Given the description of an element on the screen output the (x, y) to click on. 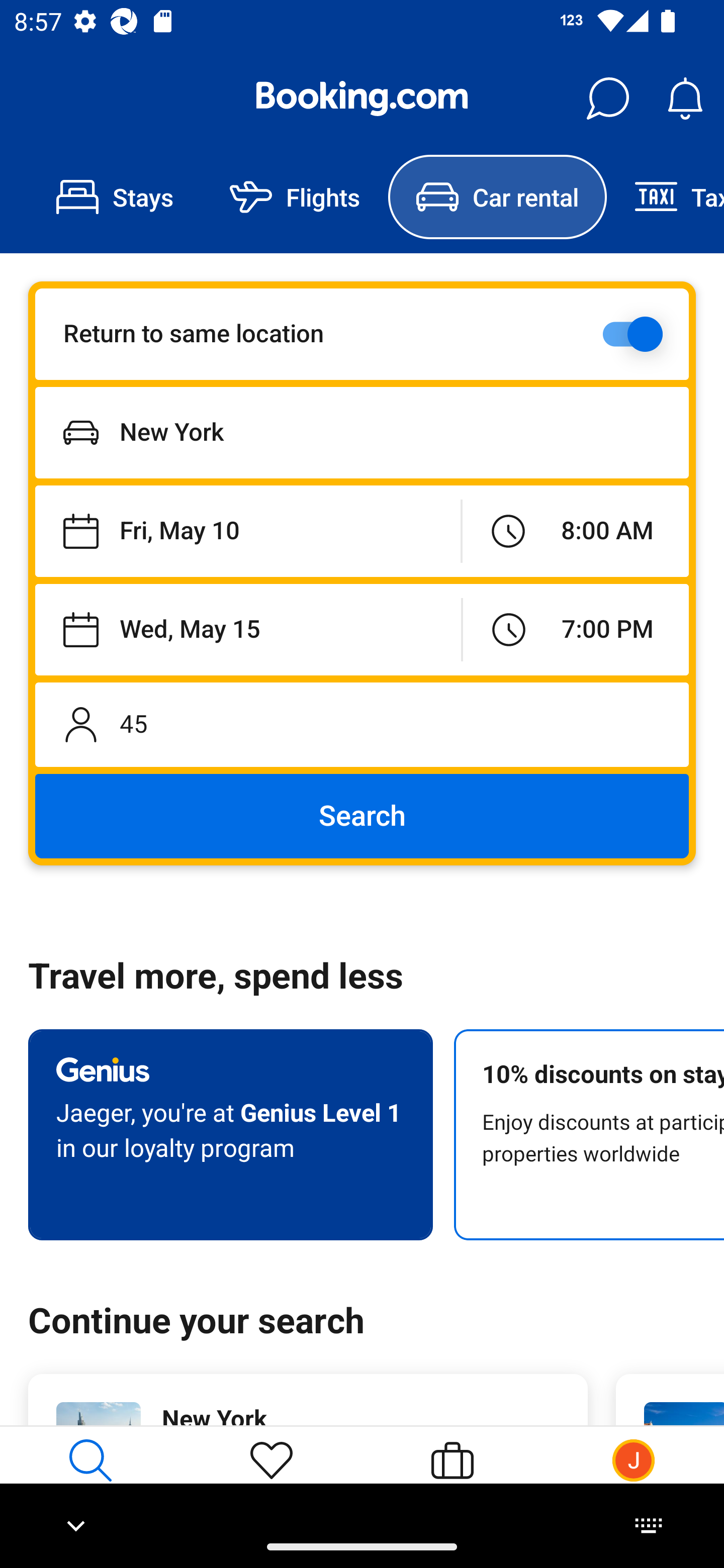
Messages (607, 98)
Notifications (685, 98)
Stays (114, 197)
Flights (294, 197)
Car rental (497, 197)
Taxi (665, 197)
Pick-up location: Text(name=New York) (361, 432)
Pick-up date: 2024-05-10 (247, 531)
Pick-up time: 08:00:00.000 (575, 531)
Drop-off date: 2024-05-15 (248, 629)
Drop-off time: 19:00:00.000 (575, 629)
Driver's age: 45 (361, 724)
Search (361, 815)
Saved (271, 1475)
Bookings (452, 1475)
Profile (633, 1475)
